Given the description of an element on the screen output the (x, y) to click on. 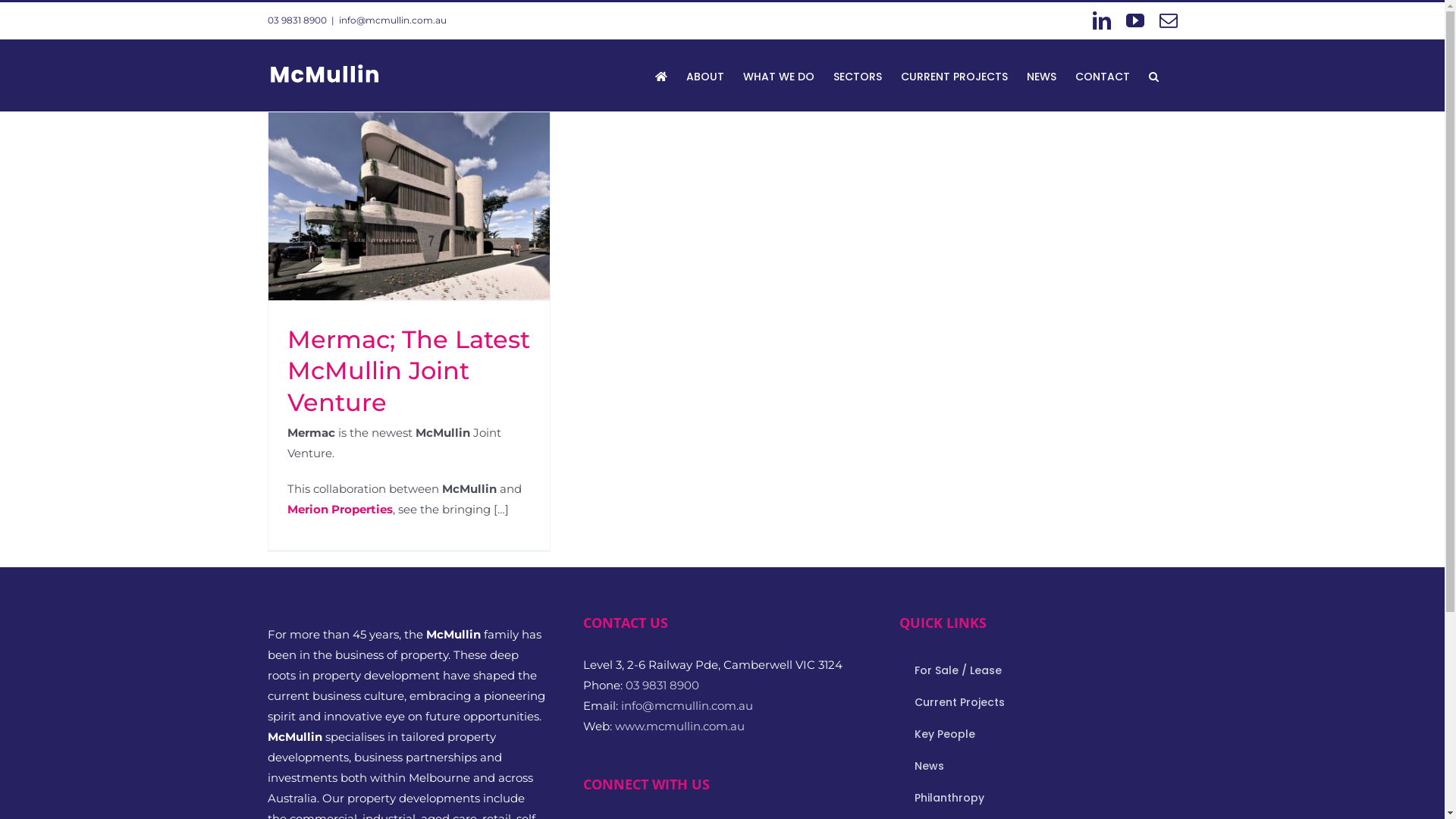
For Sale / Lease Element type: text (1037, 671)
YouTube Element type: text (1134, 20)
WHAT WE DO Element type: text (778, 74)
LinkedIn Element type: text (1101, 20)
CURRENT PROJECTS Element type: text (953, 74)
Key People Element type: text (1037, 734)
Search Element type: hover (1152, 74)
News Element type: text (1037, 766)
Merion Properties Element type: text (339, 509)
Philanthropy Element type: text (1037, 798)
Current Projects Element type: text (1037, 702)
Email Element type: text (1167, 20)
CONTACT Element type: text (1102, 74)
info@mcmullin.com.au Element type: text (391, 19)
SECTORS Element type: text (856, 74)
03 9831 8900 Element type: text (662, 684)
info@mcmullin.com.au Element type: text (687, 705)
ABOUT Element type: text (704, 74)
NEWS Element type: text (1041, 74)
www.mcmullin.com.au Element type: text (679, 725)
03 9831 8900 Element type: text (296, 19)
Mermac; The Latest McMullin Joint Venture Element type: text (407, 370)
